Given the description of an element on the screen output the (x, y) to click on. 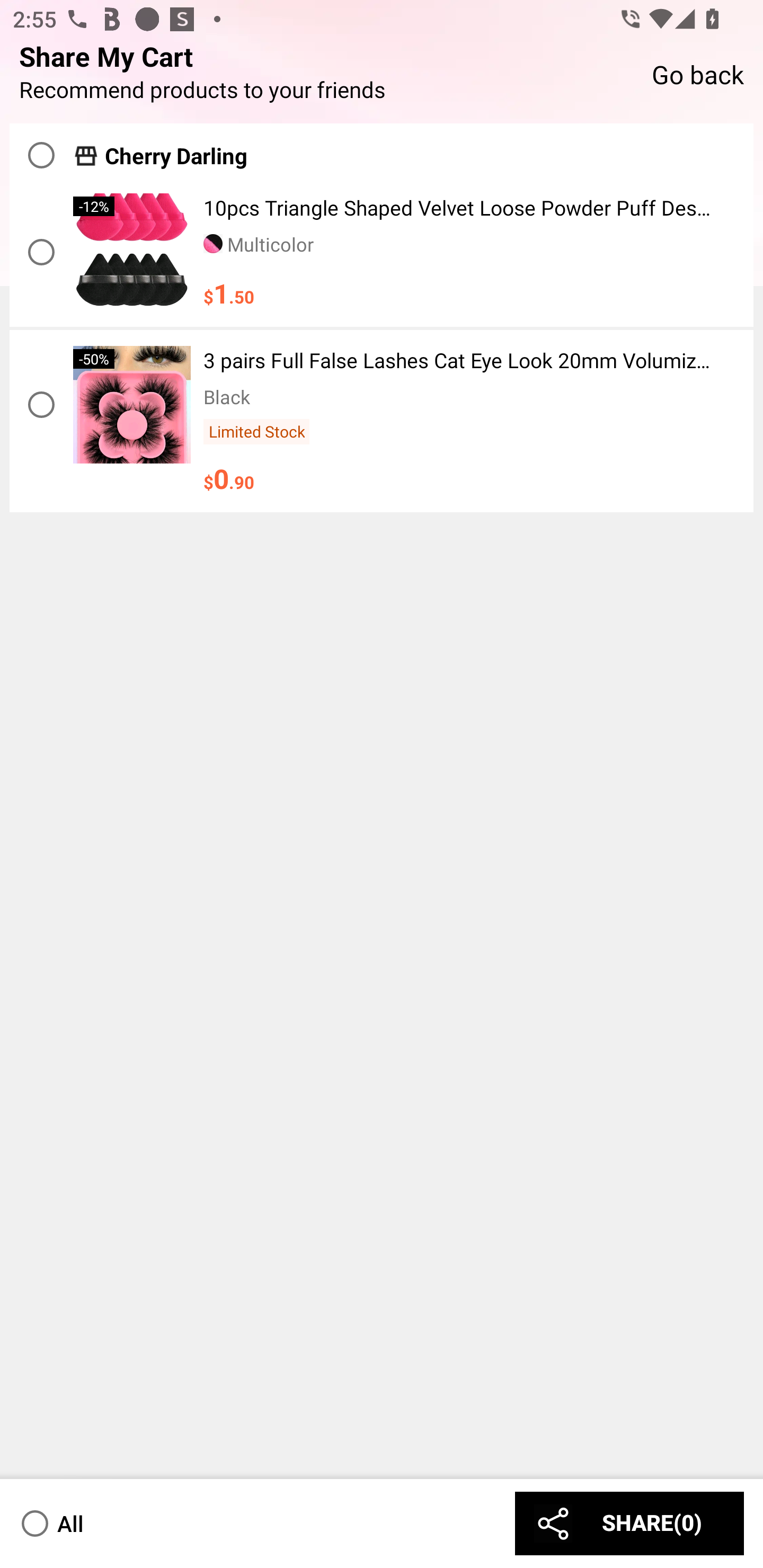
Go back (697, 73)
Cherry Darling (381, 150)
Cherry Darling (176, 155)
 Multicolor (258, 243)
Black (226, 396)
SHARE(0) (629, 1523)
All (51, 1522)
